Given the description of an element on the screen output the (x, y) to click on. 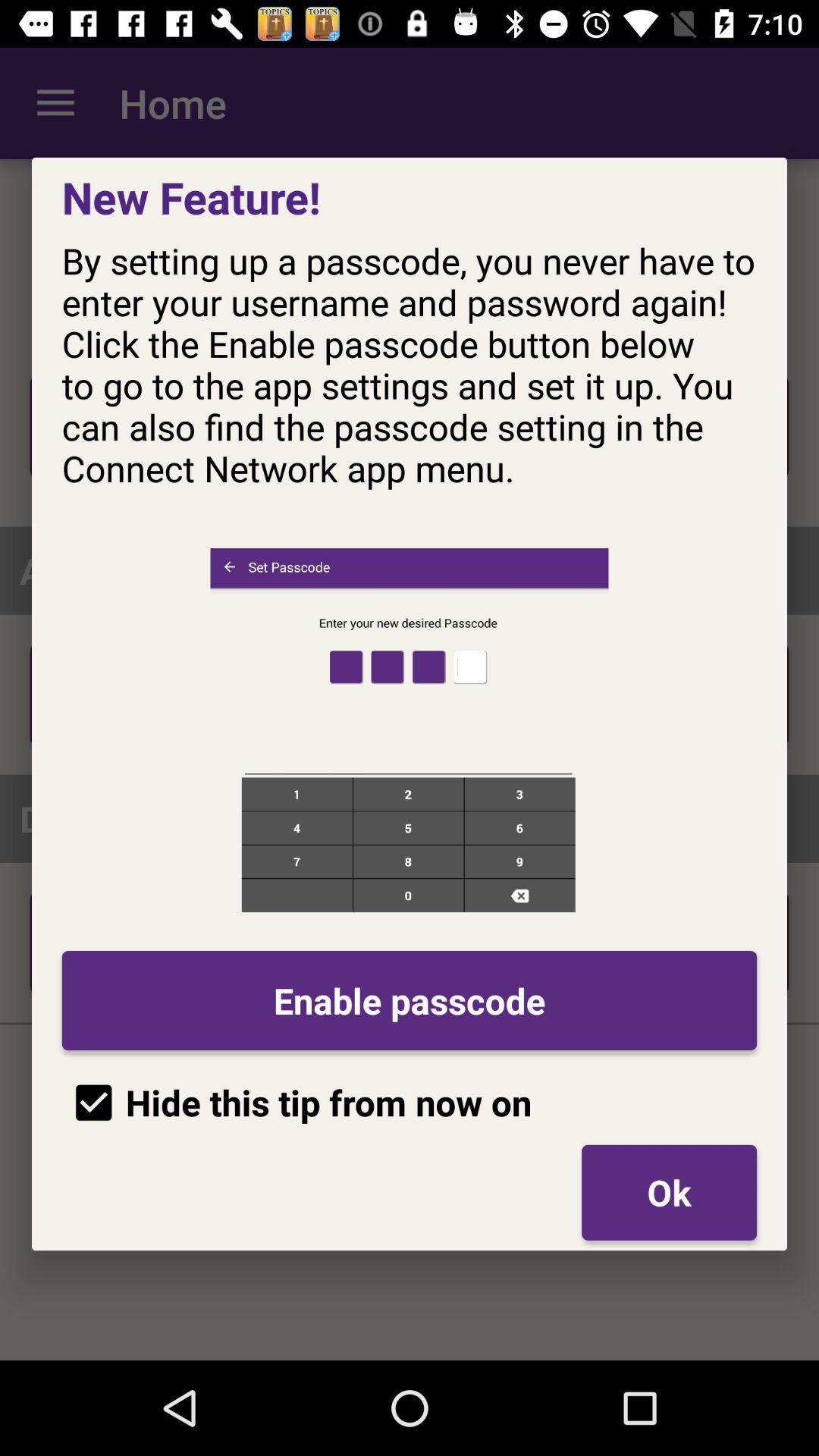
flip to the hide this tip (296, 1102)
